Given the description of an element on the screen output the (x, y) to click on. 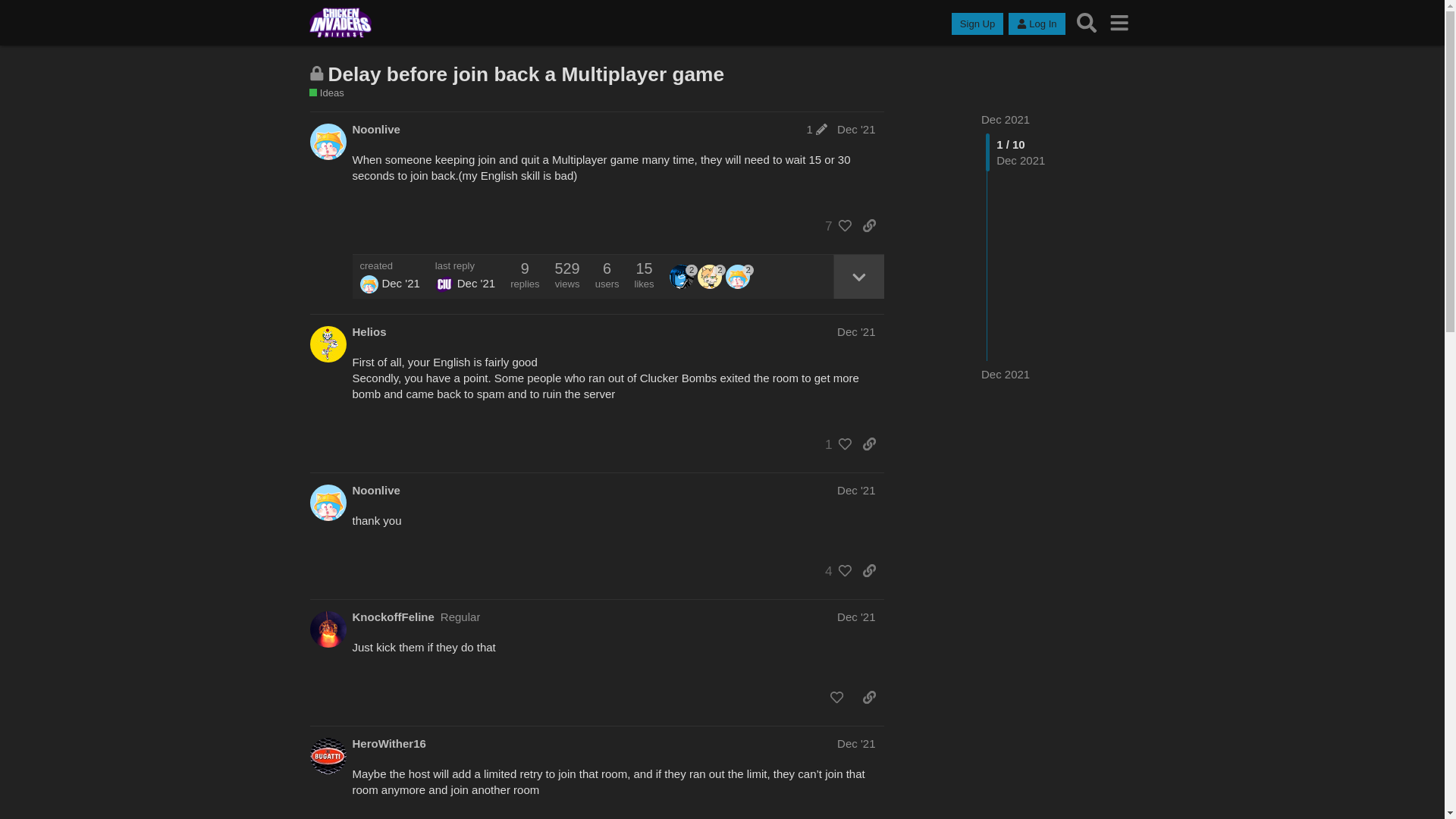
Search (1086, 22)
Dec 2021 (1005, 374)
1 (816, 128)
Dec '21 (856, 331)
This is where all your ideas about CIU go. (325, 92)
7 people liked this post (833, 225)
trueuser (683, 276)
Dec '21 (856, 490)
share a link to this post (869, 225)
post last edited on Dec 16, 2021 9:44 am (816, 128)
KnockoffFeline (392, 616)
Dec '21 (856, 128)
Post date (856, 128)
Dec 16, 2021 8:52 am (400, 282)
1 (833, 444)
